Given the description of an element on the screen output the (x, y) to click on. 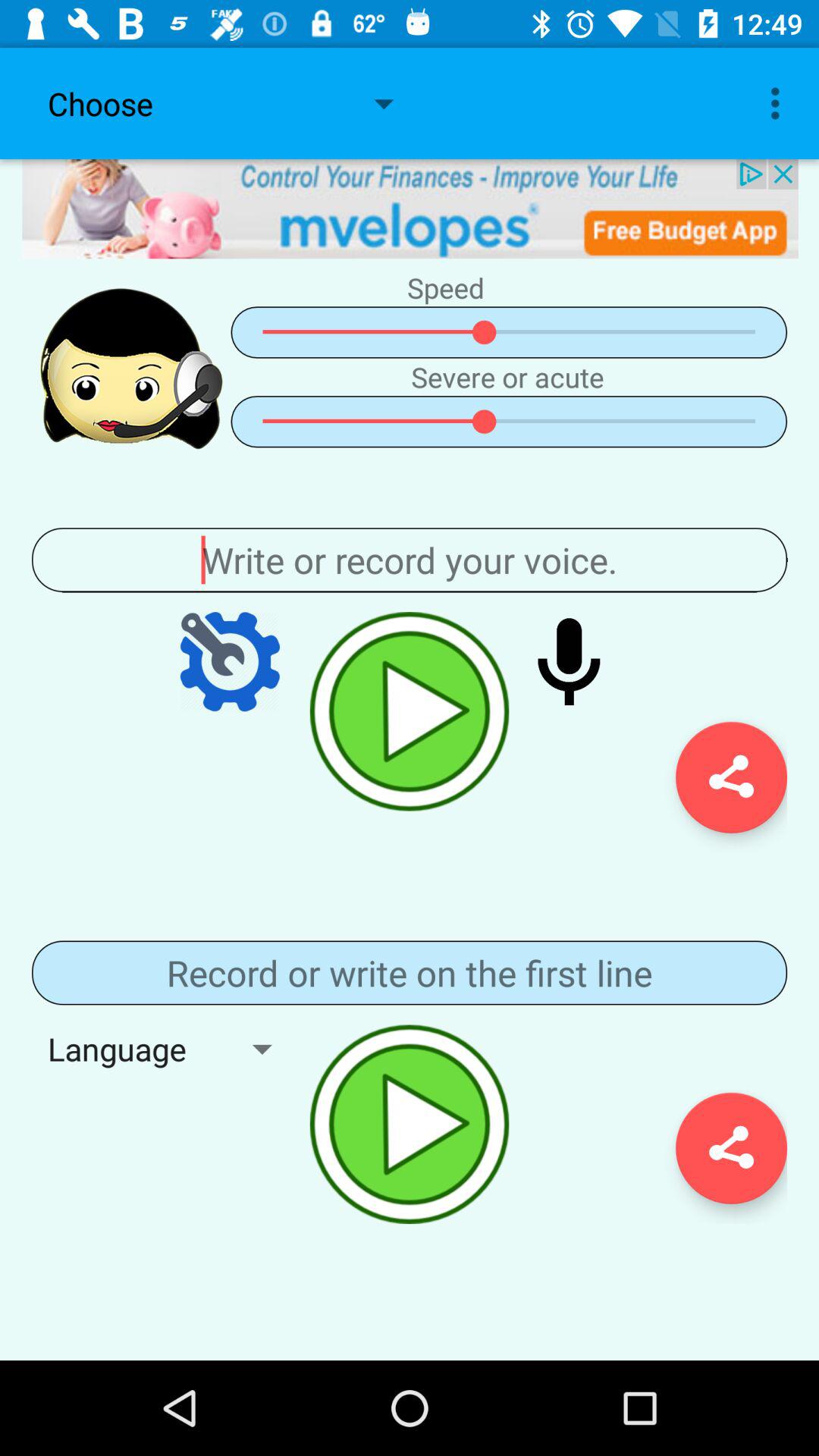
menu (409, 972)
